Given the description of an element on the screen output the (x, y) to click on. 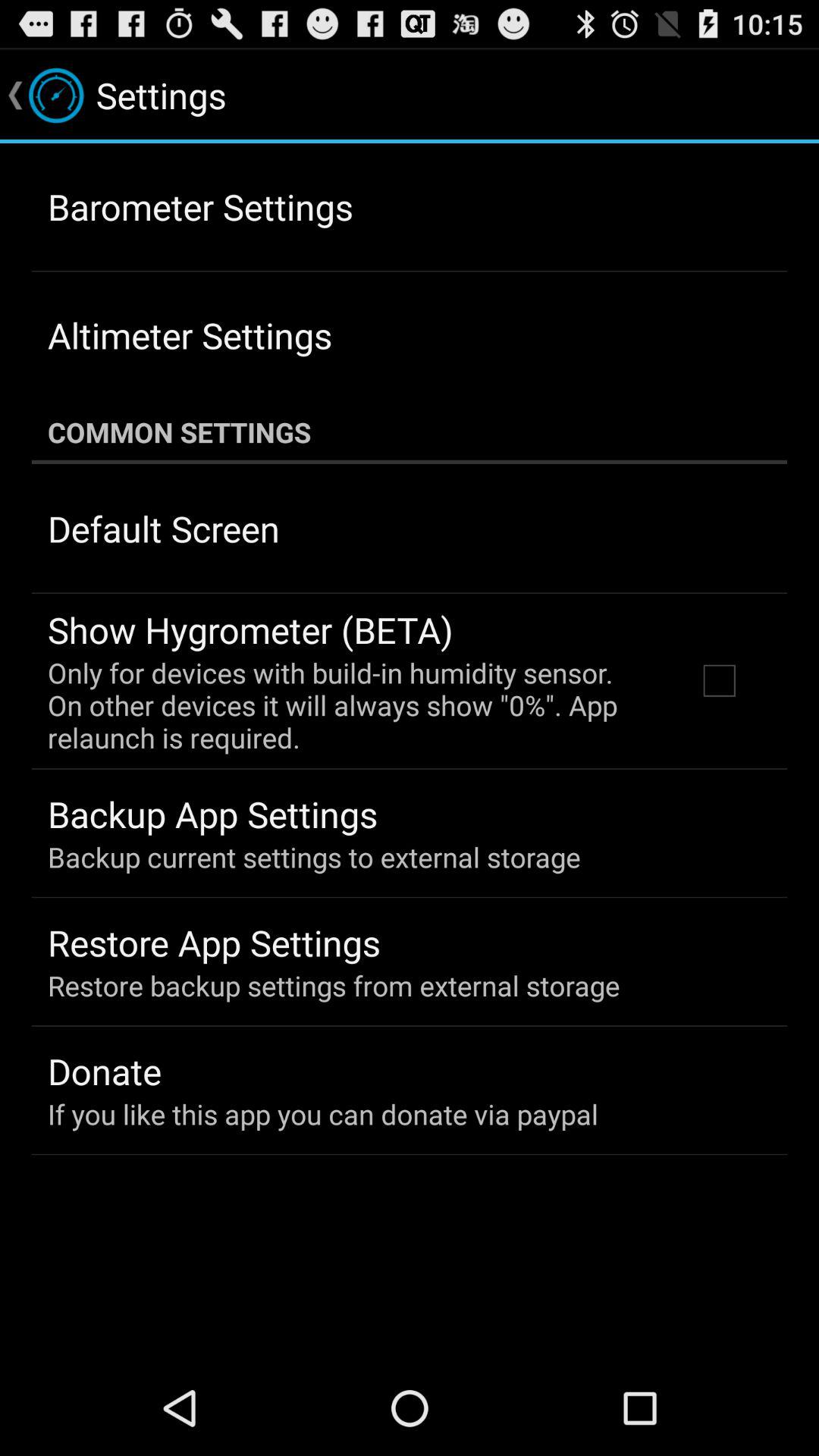
turn on the barometer settings icon (200, 206)
